Given the description of an element on the screen output the (x, y) to click on. 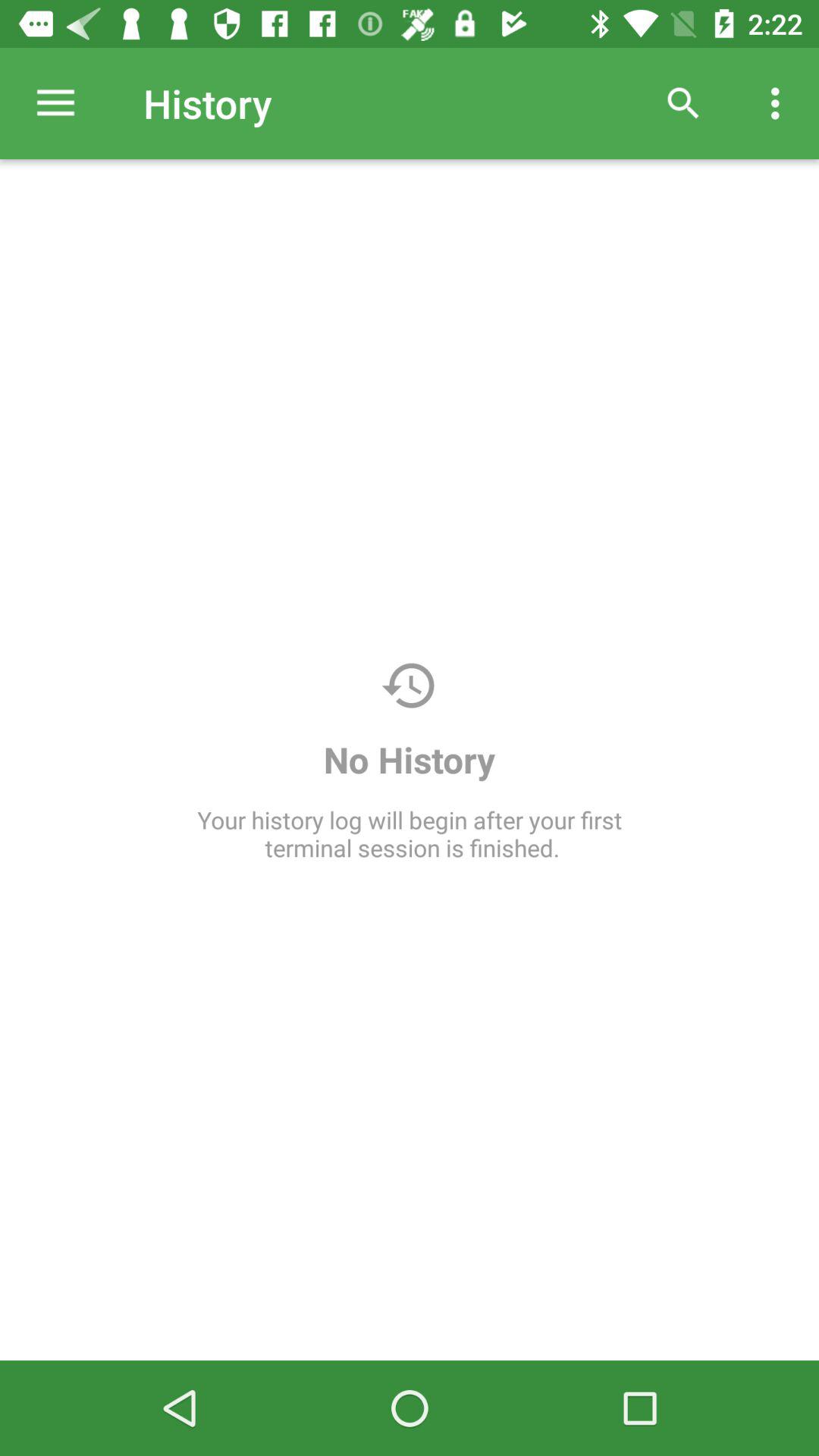
choose icon next to history item (683, 103)
